Given the description of an element on the screen output the (x, y) to click on. 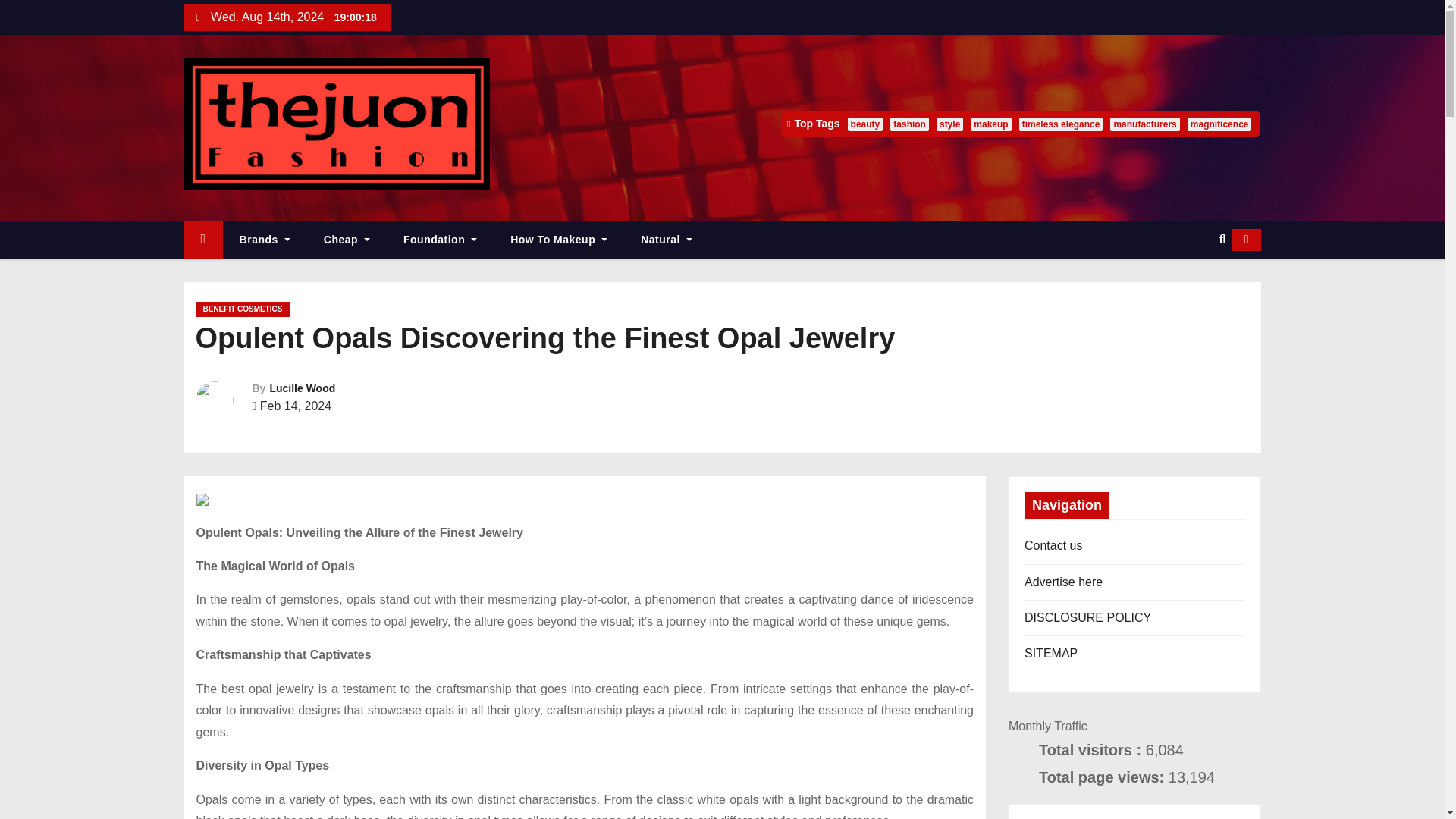
Home (202, 239)
Brands (264, 239)
Foundation (440, 239)
beauty (865, 124)
fashion (908, 124)
makeup (990, 124)
Natural (666, 239)
timeless elegance (1061, 124)
manufacturers (1144, 124)
How To Makeup (558, 239)
